Given the description of an element on the screen output the (x, y) to click on. 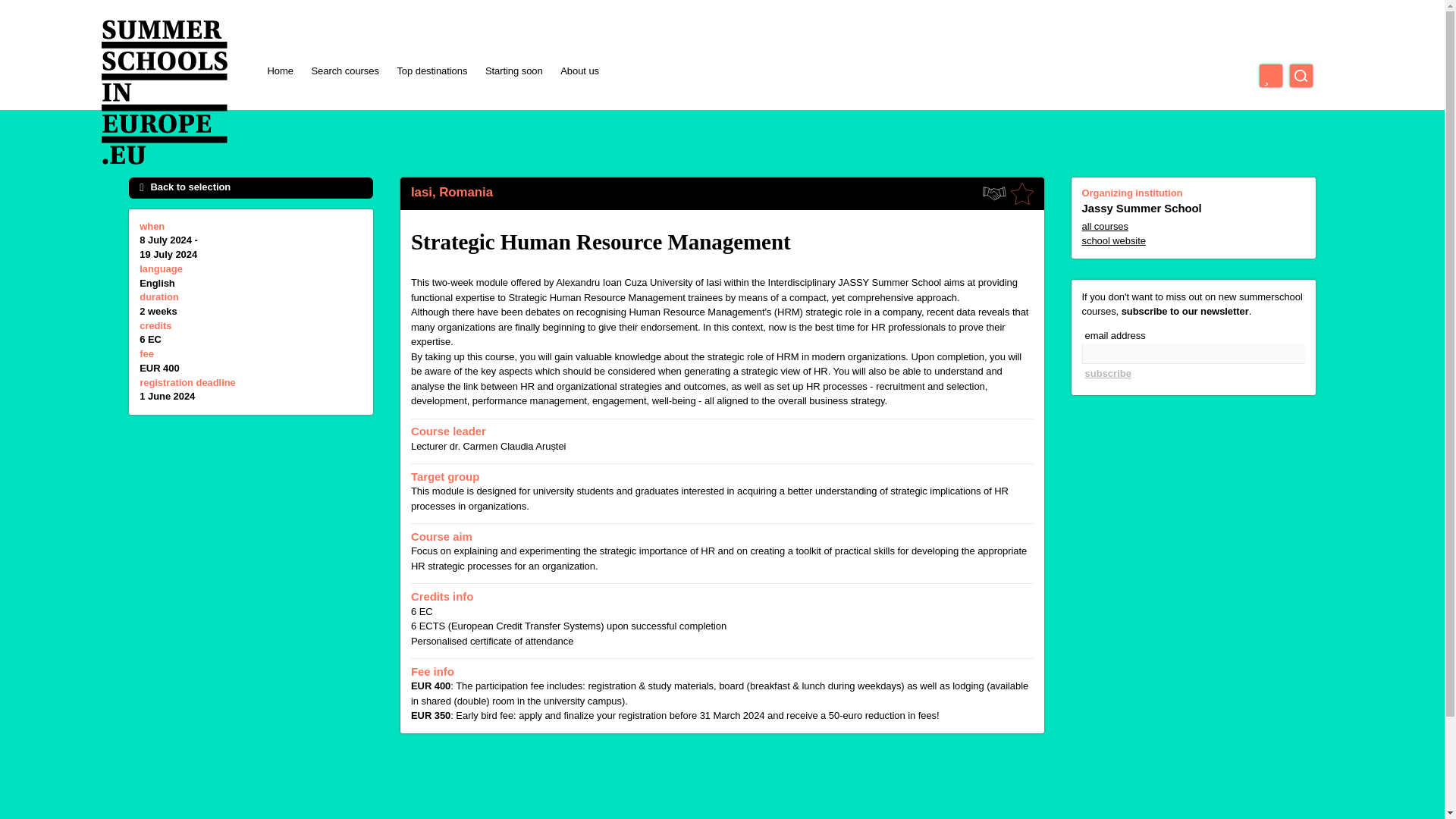
all courses (1192, 227)
school website (1192, 241)
search (1301, 75)
About us (579, 71)
subscribe (1107, 373)
subscribe (1107, 373)
Starting soon (513, 71)
Add as favourite (1021, 193)
Search courses (344, 71)
Home (279, 71)
